Given the description of an element on the screen output the (x, y) to click on. 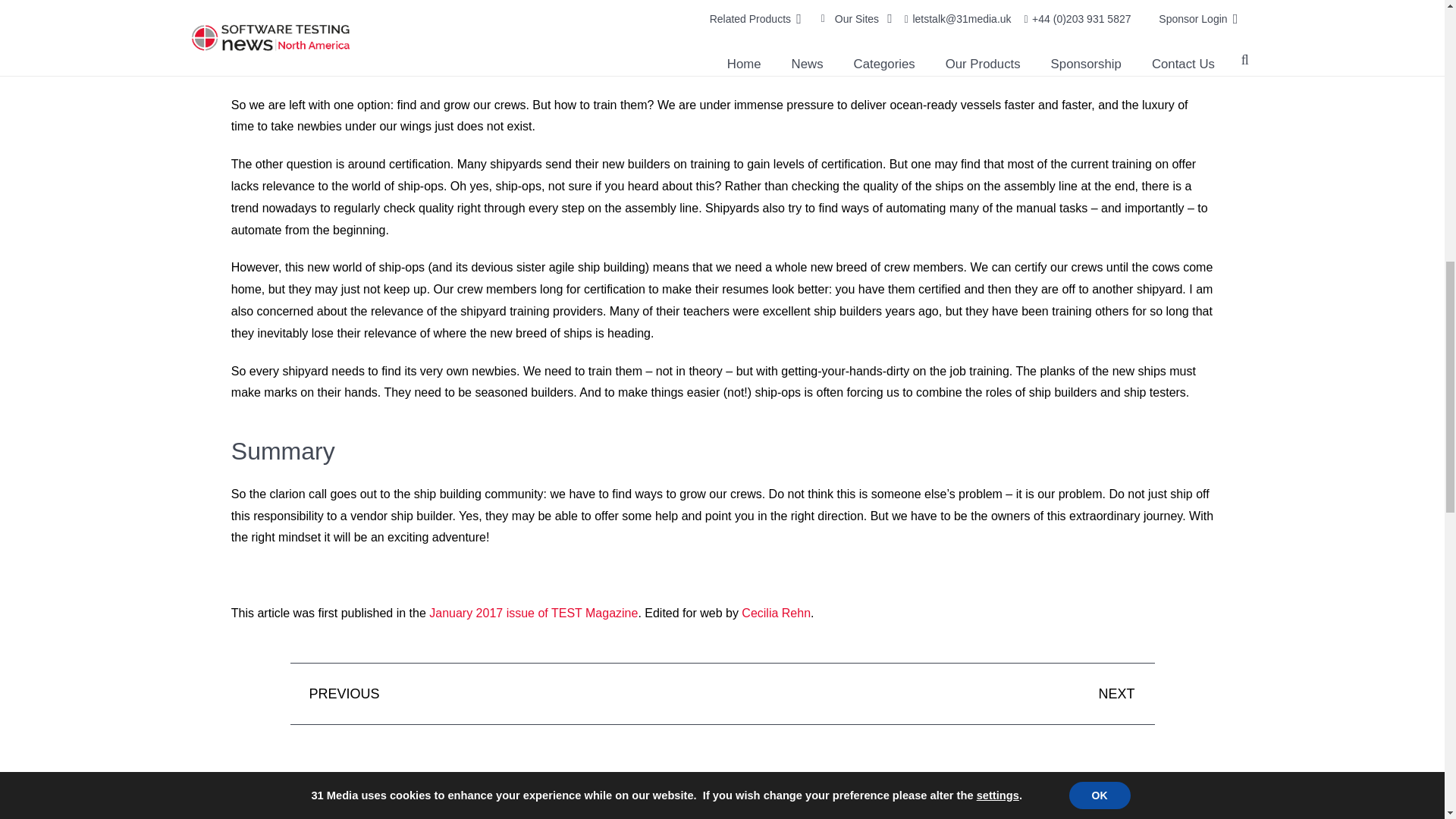
Back to top (1413, 26)
